Given the description of an element on the screen output the (x, y) to click on. 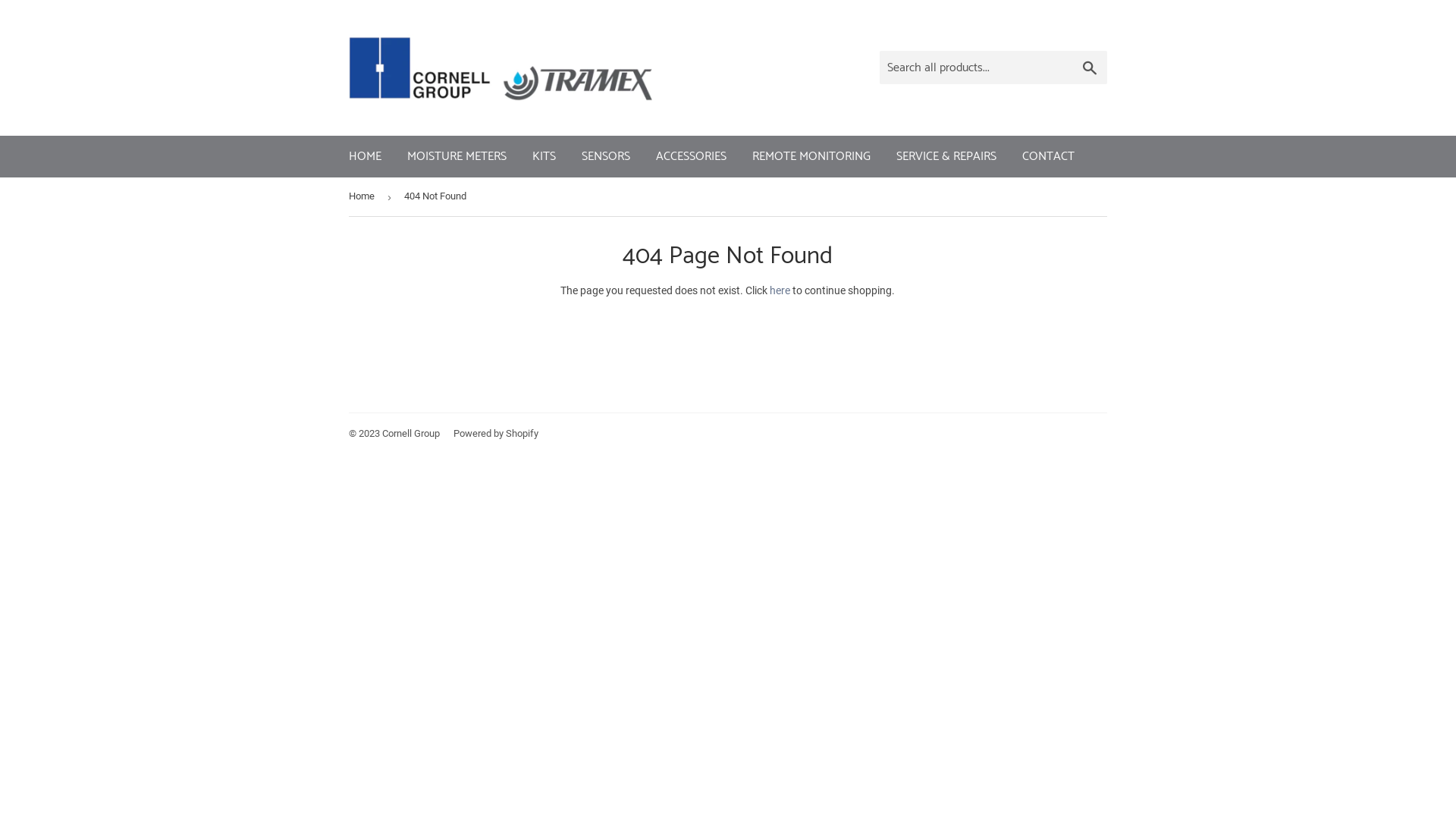
CONTACT Element type: text (1047, 156)
SERVICE & REPAIRS Element type: text (945, 156)
Cornell Group Element type: text (410, 433)
HOME Element type: text (364, 156)
Home Element type: text (363, 196)
REMOTE MONITORING Element type: text (810, 156)
SENSORS Element type: text (605, 156)
Powered by Shopify Element type: text (495, 433)
KITS Element type: text (543, 156)
ACCESSORIES Element type: text (690, 156)
Search Element type: text (1090, 68)
MOISTURE METERS Element type: text (456, 156)
here Element type: text (779, 290)
